Given the description of an element on the screen output the (x, y) to click on. 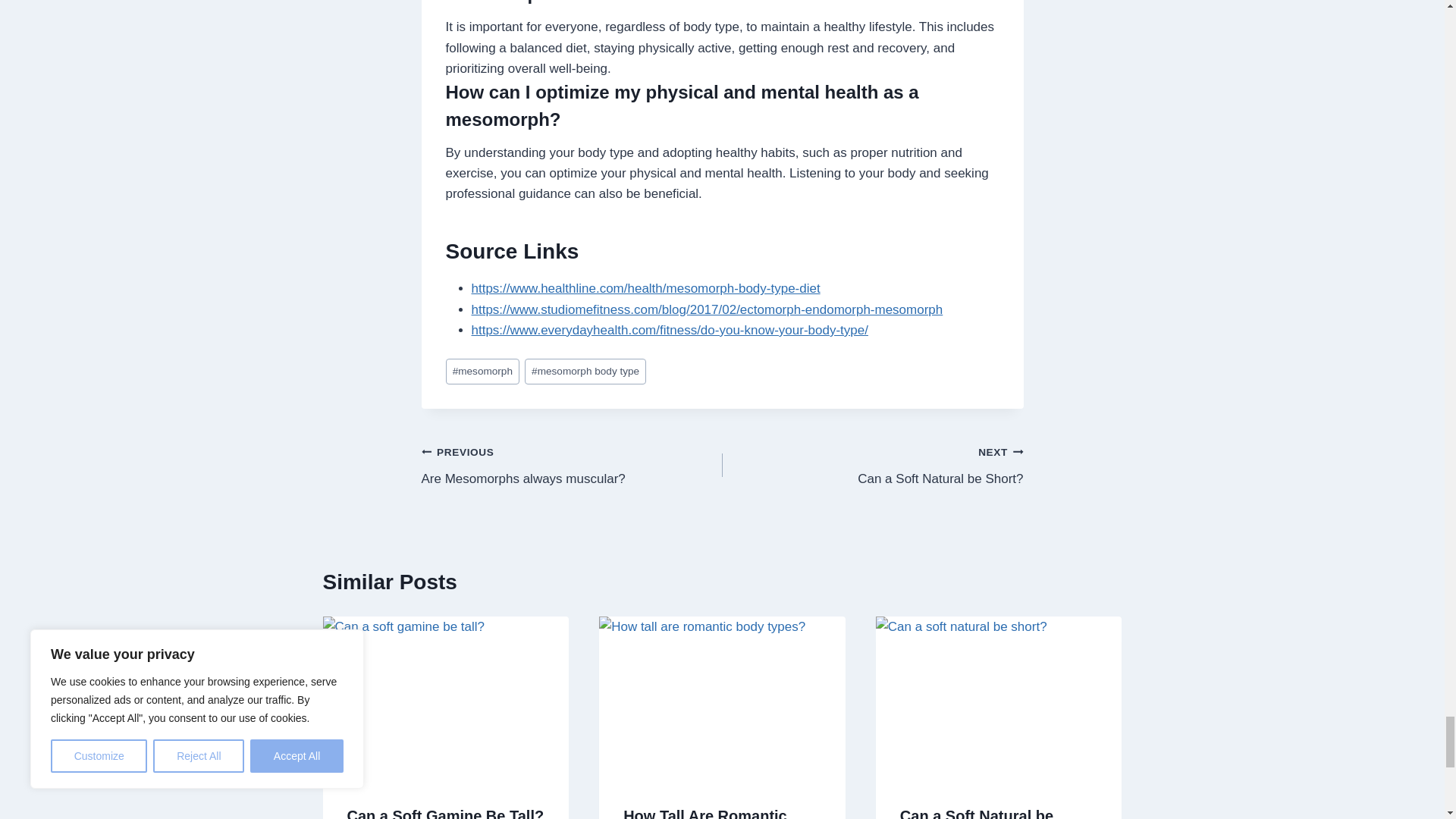
How Tall Are Romantic Body Types? (572, 464)
mesomorph body type (705, 813)
mesomorph (585, 371)
Can a Soft Gamine Be Tall? (872, 464)
Can a Soft Natural be Short? (482, 371)
